Given the description of an element on the screen output the (x, y) to click on. 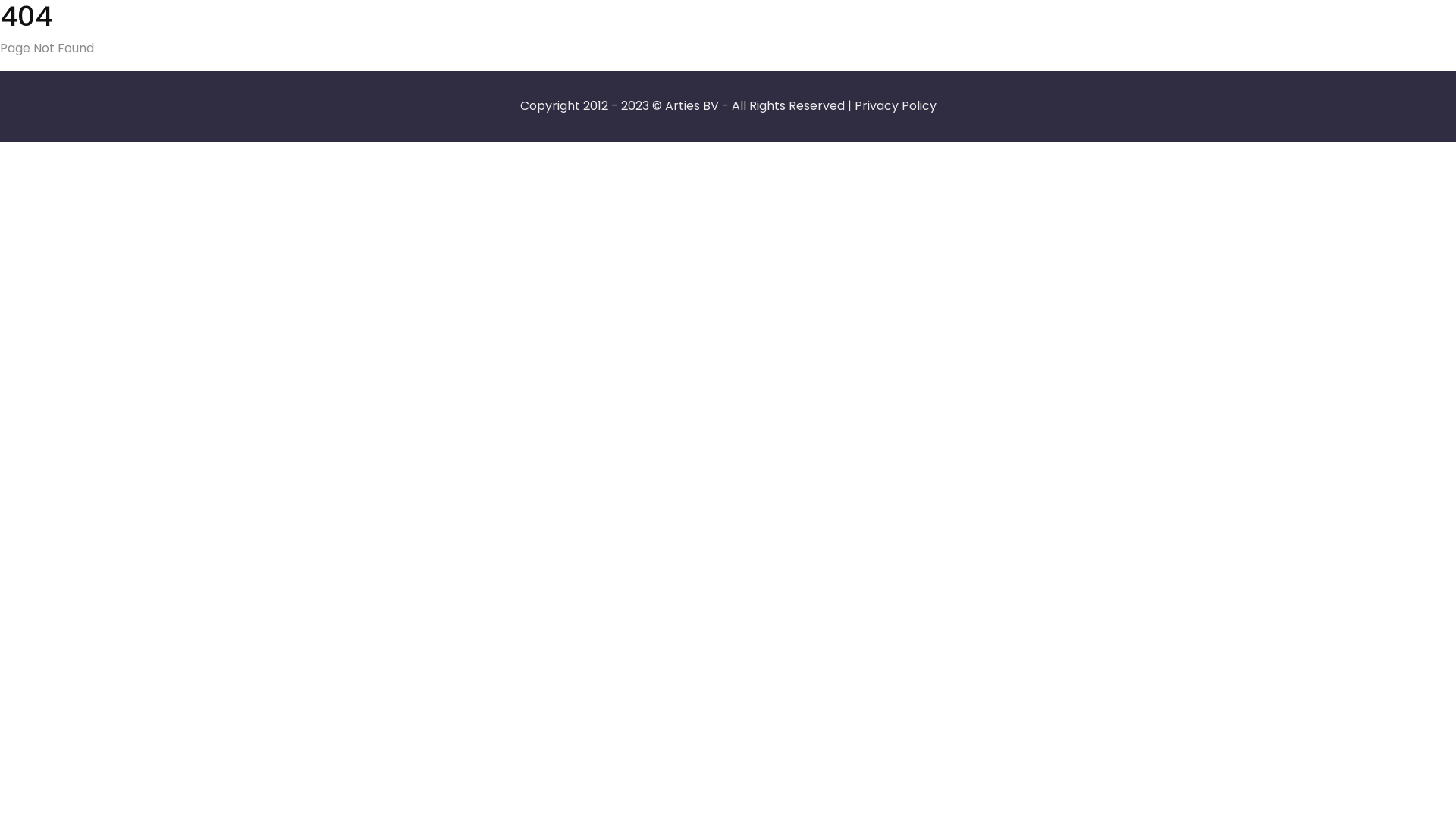
Privacy Policy Element type: text (894, 105)
